Given the description of an element on the screen output the (x, y) to click on. 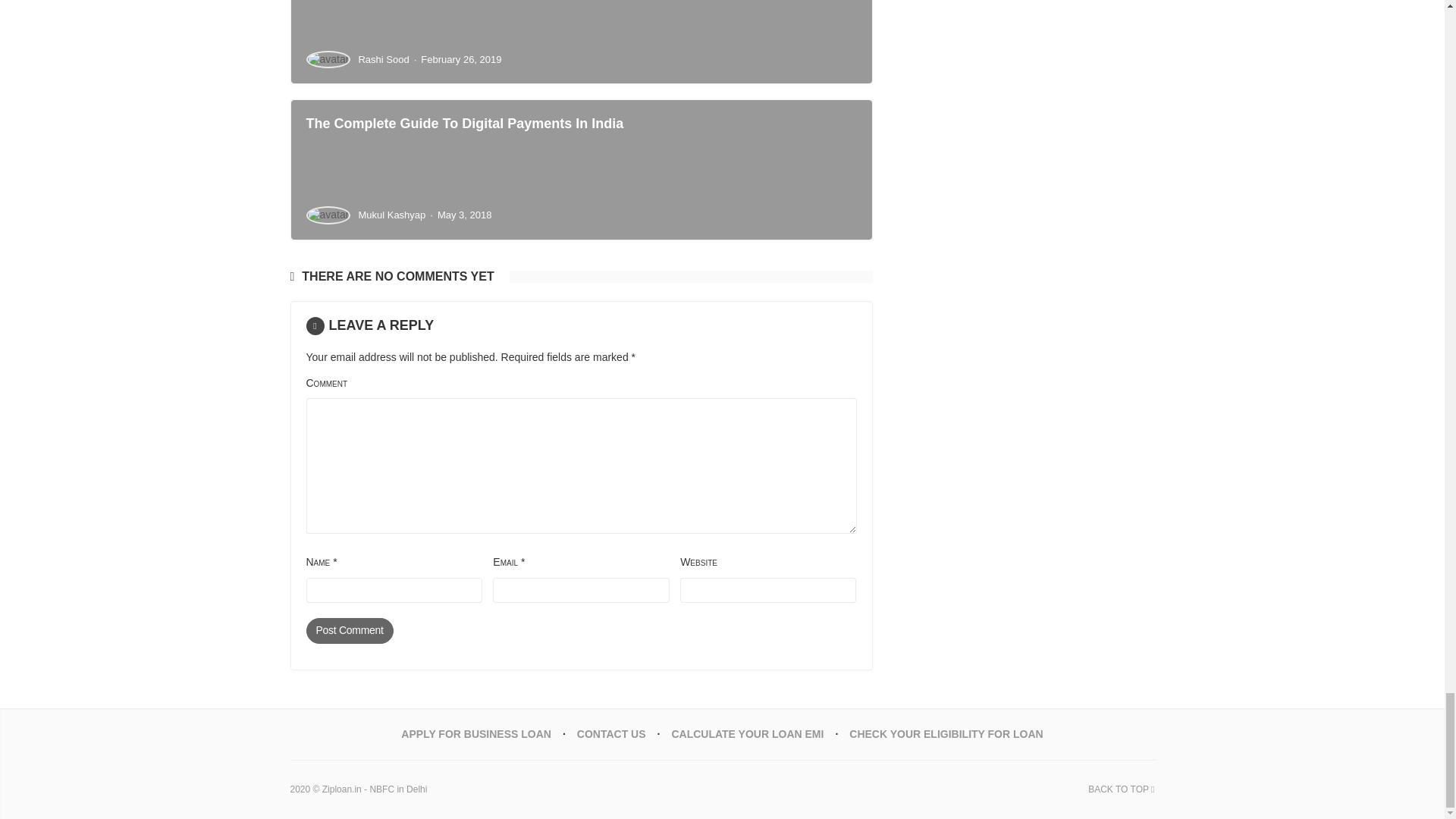
Post Comment (349, 630)
BACK TO TOP  (1120, 789)
